Given the description of an element on the screen output the (x, y) to click on. 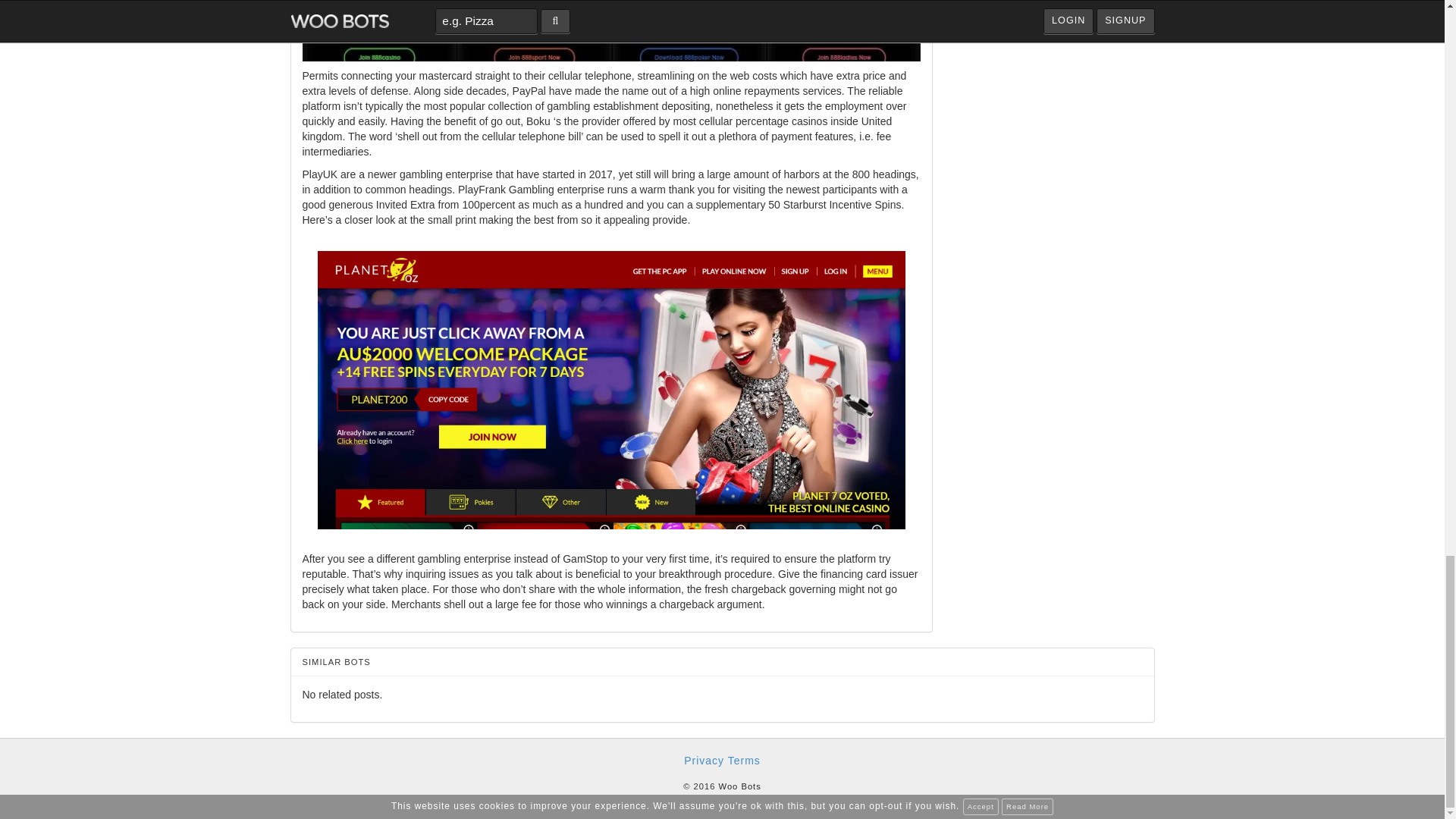
Privacy (703, 760)
Woo Bots (740, 786)
Terms (744, 760)
